Given the description of an element on the screen output the (x, y) to click on. 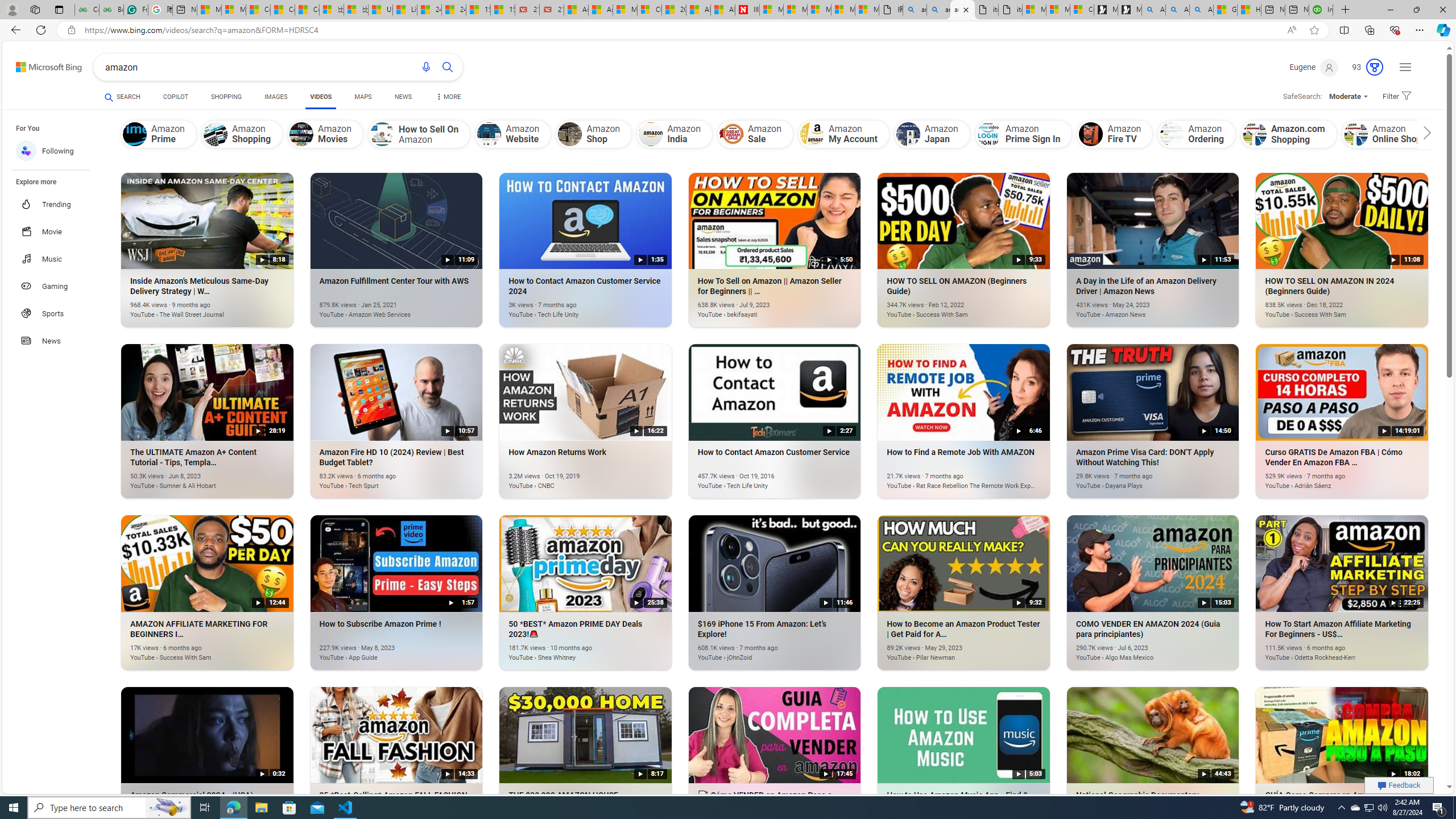
Amazon Ordering (1195, 134)
Filter (1394, 96)
How to Sell On Amazon (381, 133)
HOW TO SELL ON AMAZON (Beginners Guide) (946, 308)
Amazon Fire TV (1090, 133)
Eugene (1314, 67)
